Given the description of an element on the screen output the (x, y) to click on. 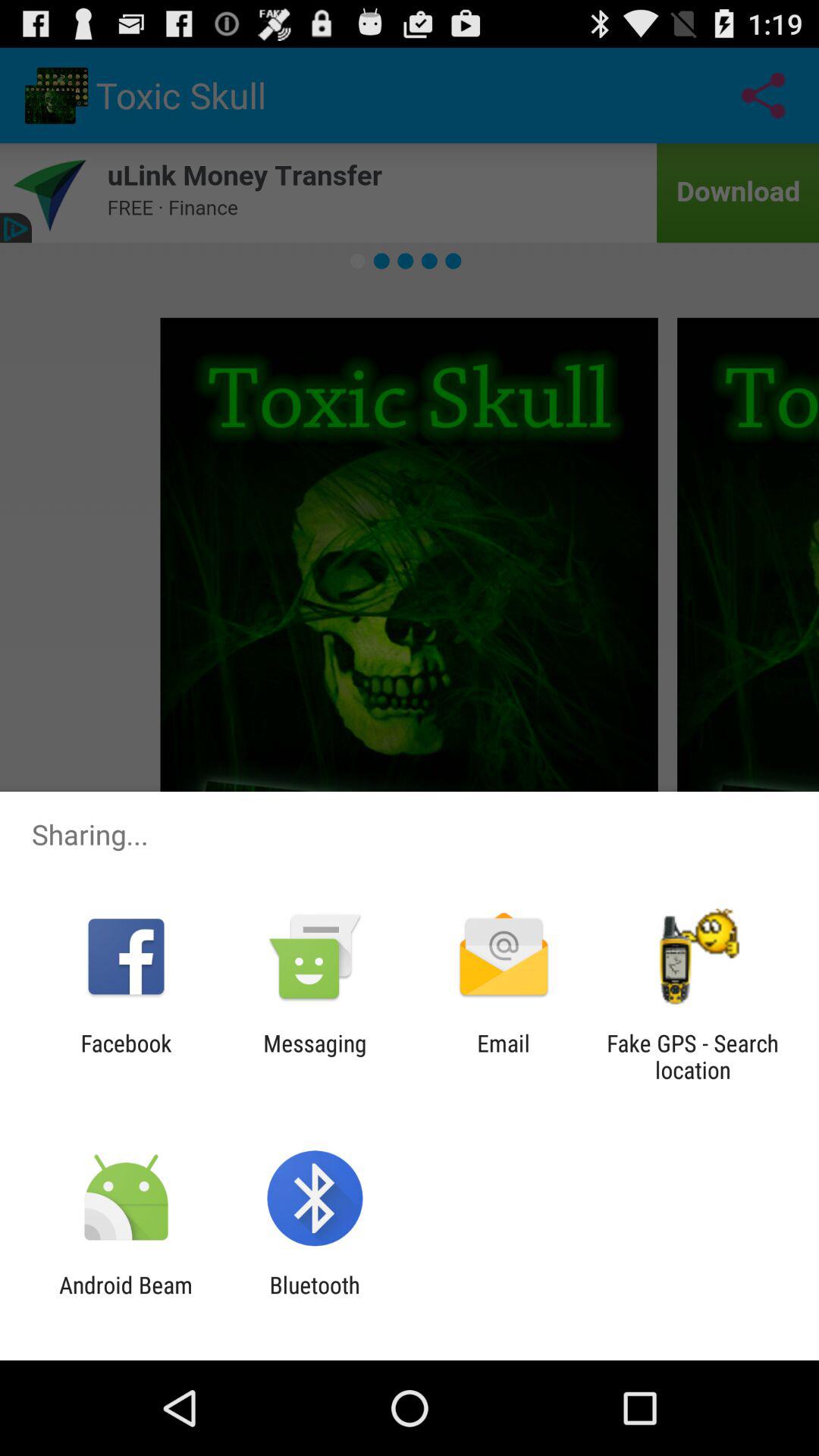
swipe to the fake gps search (692, 1056)
